Given the description of an element on the screen output the (x, y) to click on. 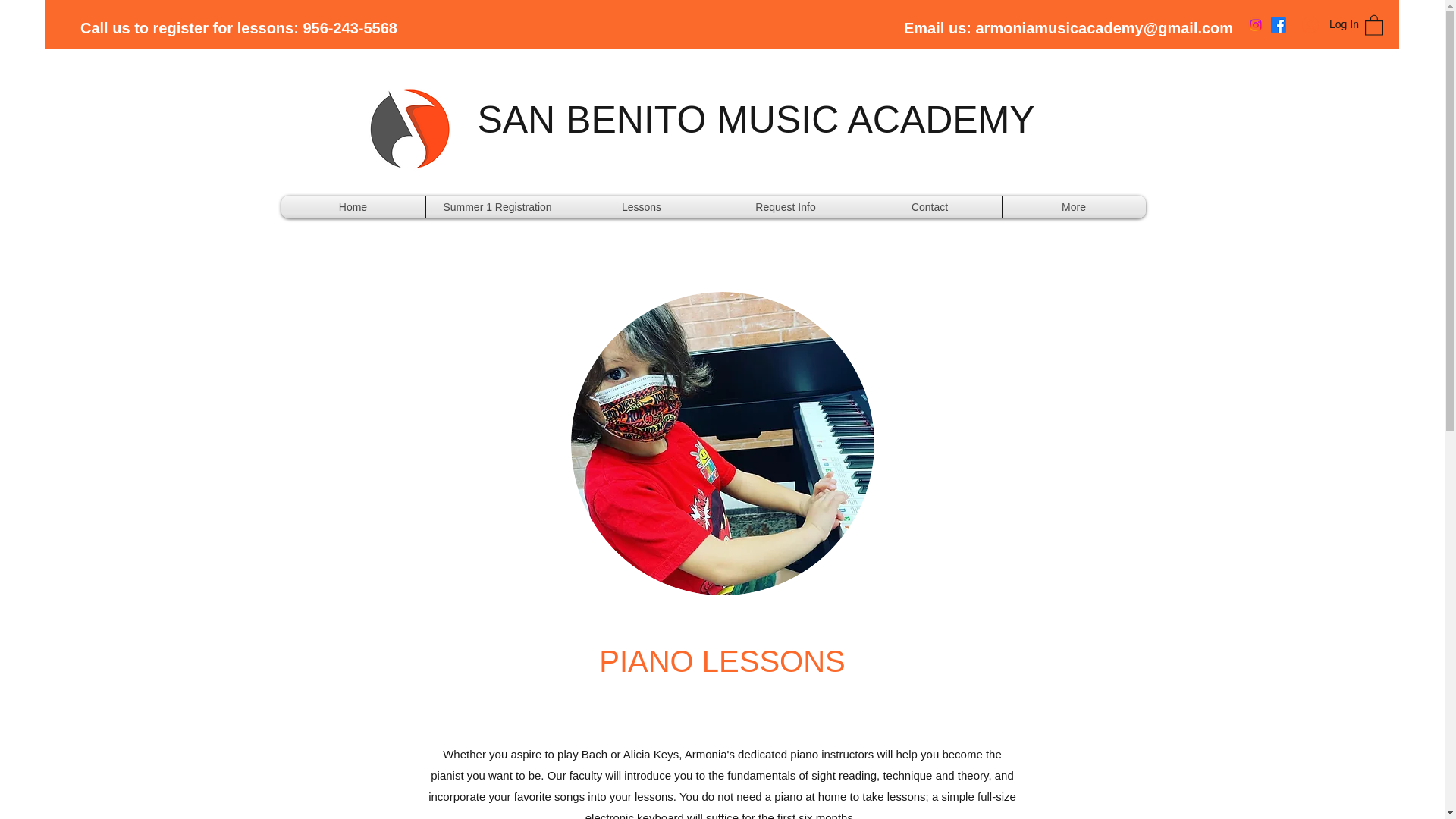
Summer 1 Registration (497, 206)
Contact (930, 206)
Lessons (641, 206)
Request Info (785, 206)
Home (353, 206)
Log In (1325, 24)
